Given the description of an element on the screen output the (x, y) to click on. 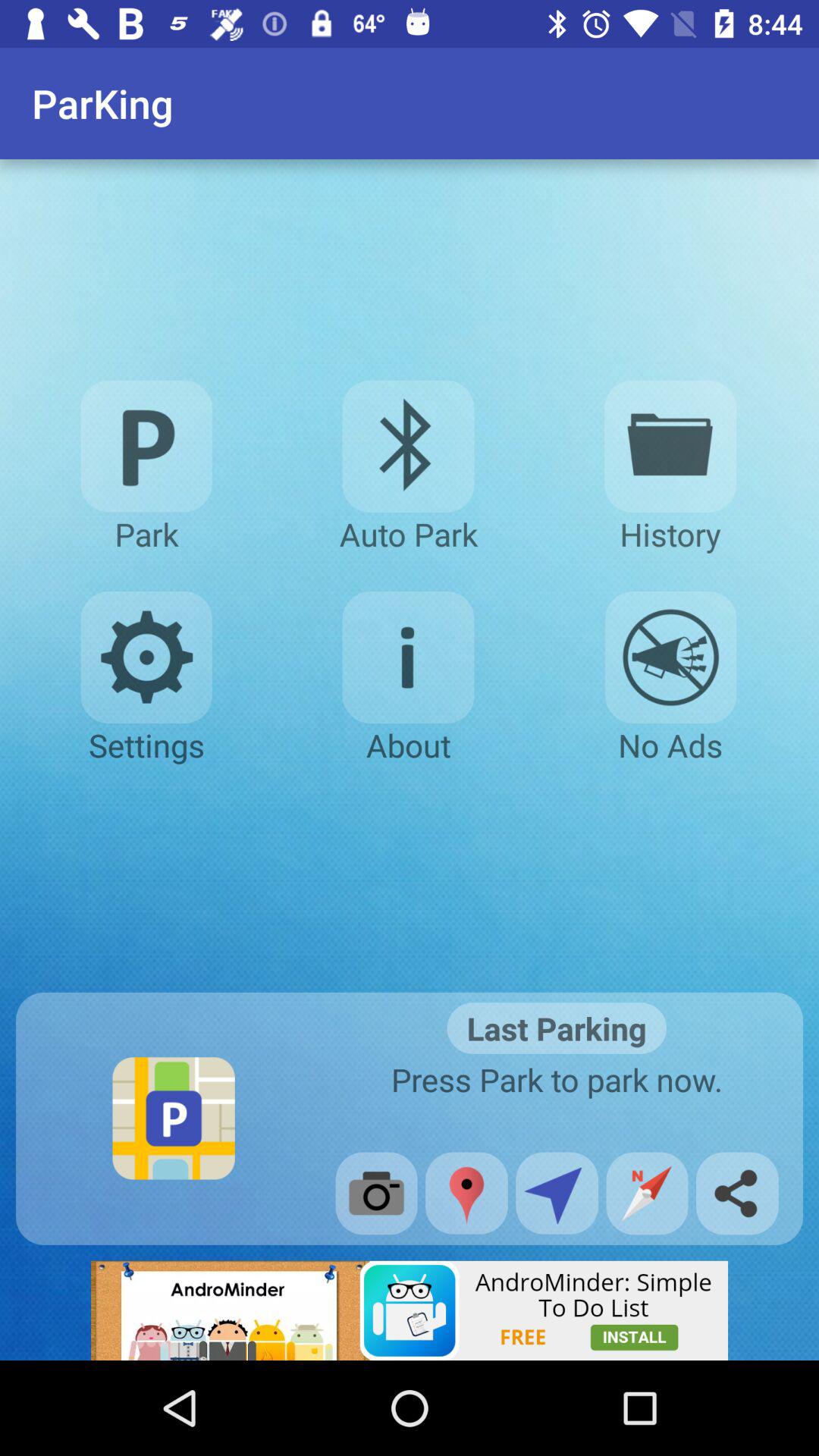
click to the park option (146, 445)
